Given the description of an element on the screen output the (x, y) to click on. 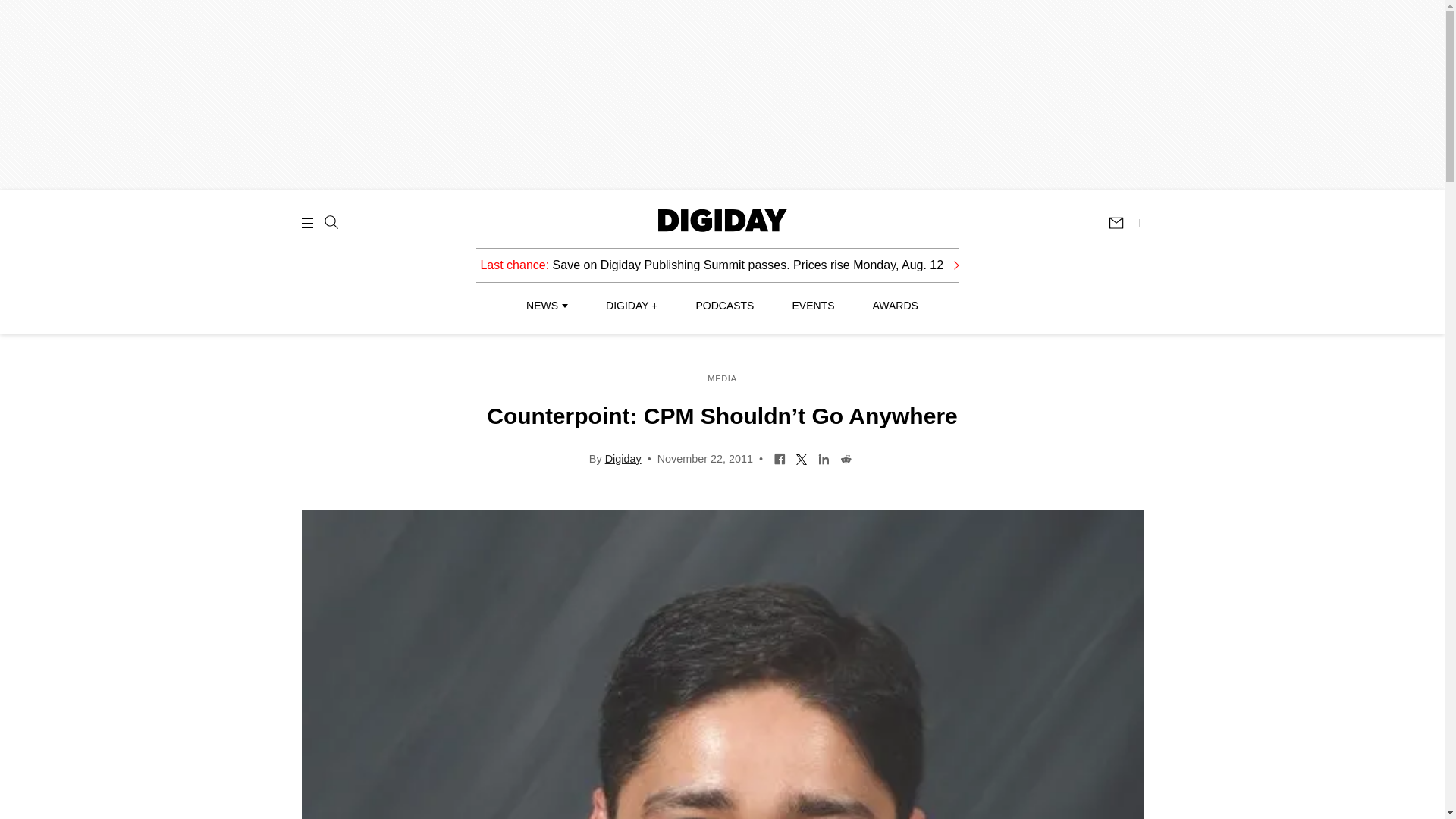
Share on Reddit (845, 458)
Share on Twitter (801, 458)
EVENTS (813, 305)
Share on LinkedIn (822, 458)
Share on Facebook (779, 458)
Subscribe (1123, 223)
AWARDS (894, 305)
NEWS (546, 305)
PODCASTS (725, 305)
